Given the description of an element on the screen output the (x, y) to click on. 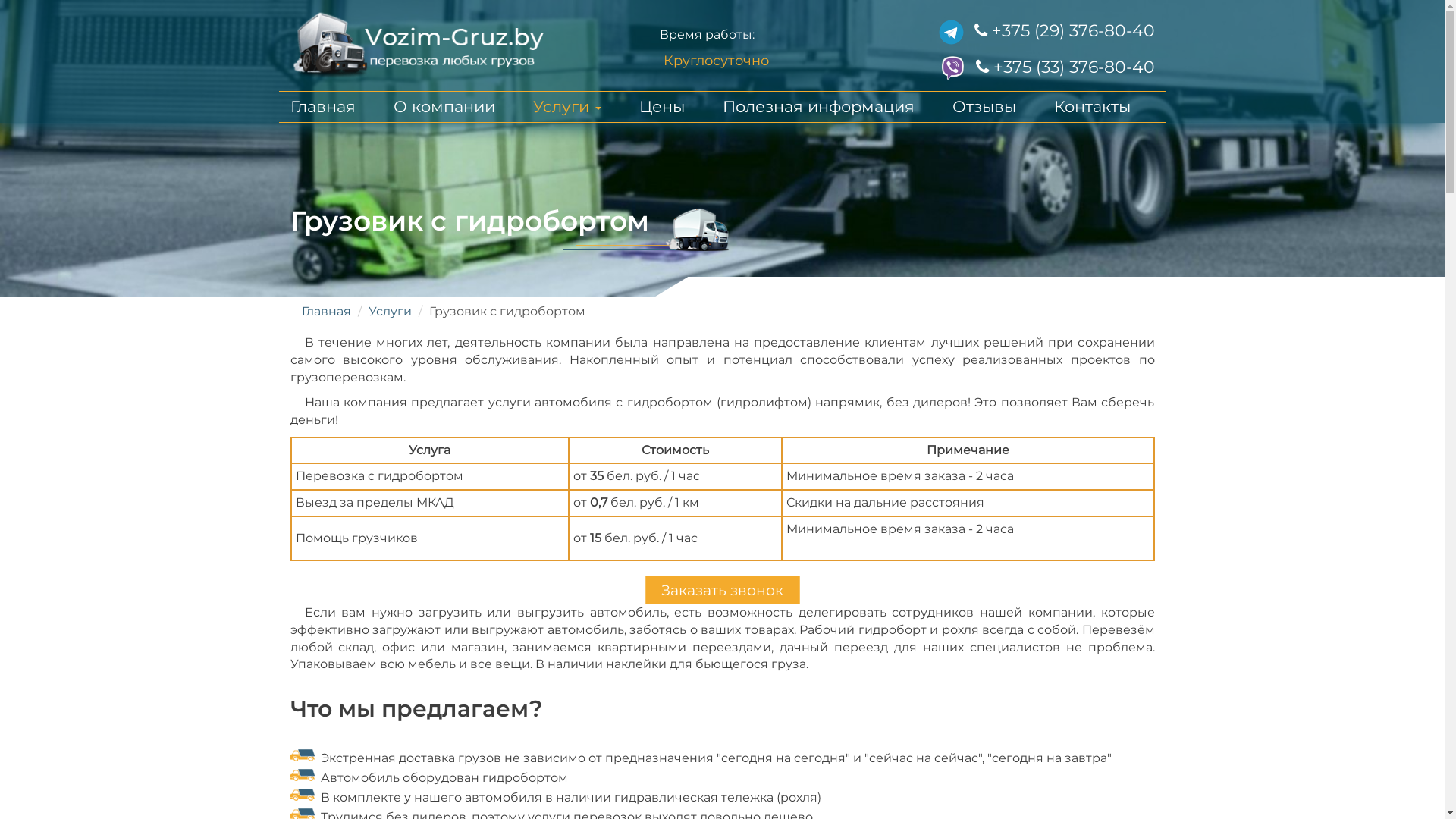
+375 (33) 376-80-40 Element type: text (1064, 66)
+375 (29) 376-80-40 Element type: text (1063, 30)
